Given the description of an element on the screen output the (x, y) to click on. 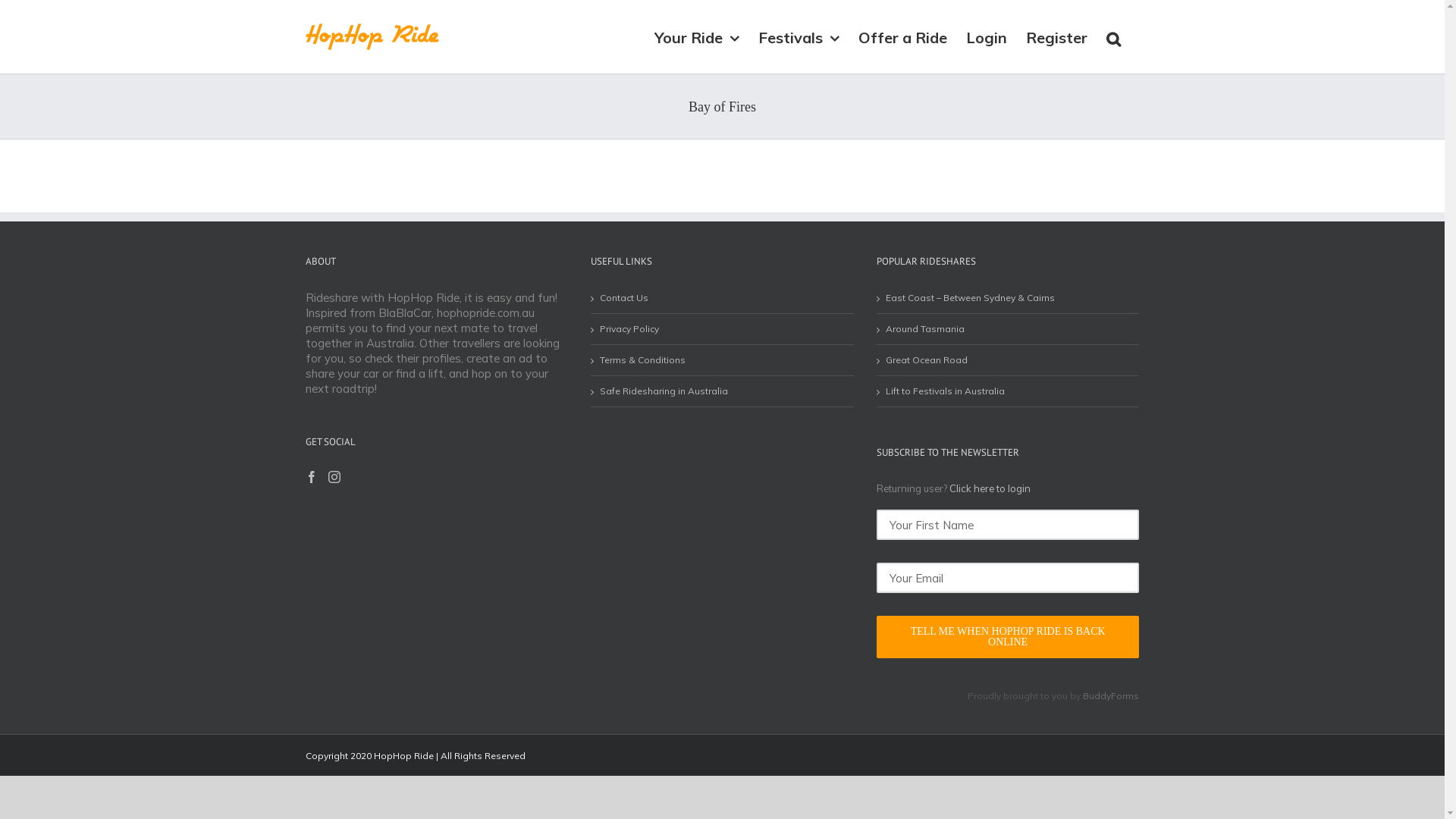
Safe Ridesharing in Australia Element type: text (722, 390)
Click here to login Element type: text (989, 488)
Offer a Ride Element type: text (902, 36)
Search Element type: hover (1112, 36)
BuddyForms Element type: text (1110, 695)
Great Ocean Road Element type: text (1008, 359)
Contact Us Element type: text (722, 296)
Your Ride Element type: text (695, 36)
Login Element type: text (986, 36)
TELL ME WHEN HOPHOP RIDE IS BACK ONLINE Element type: text (1007, 636)
Around Tasmania Element type: text (1008, 328)
Festivals Element type: text (798, 36)
Terms & Conditions Element type: text (722, 359)
Privacy Policy Element type: text (722, 328)
Register Element type: text (1055, 36)
Lift to Festivals in Australia Element type: text (1008, 390)
